Given the description of an element on the screen output the (x, y) to click on. 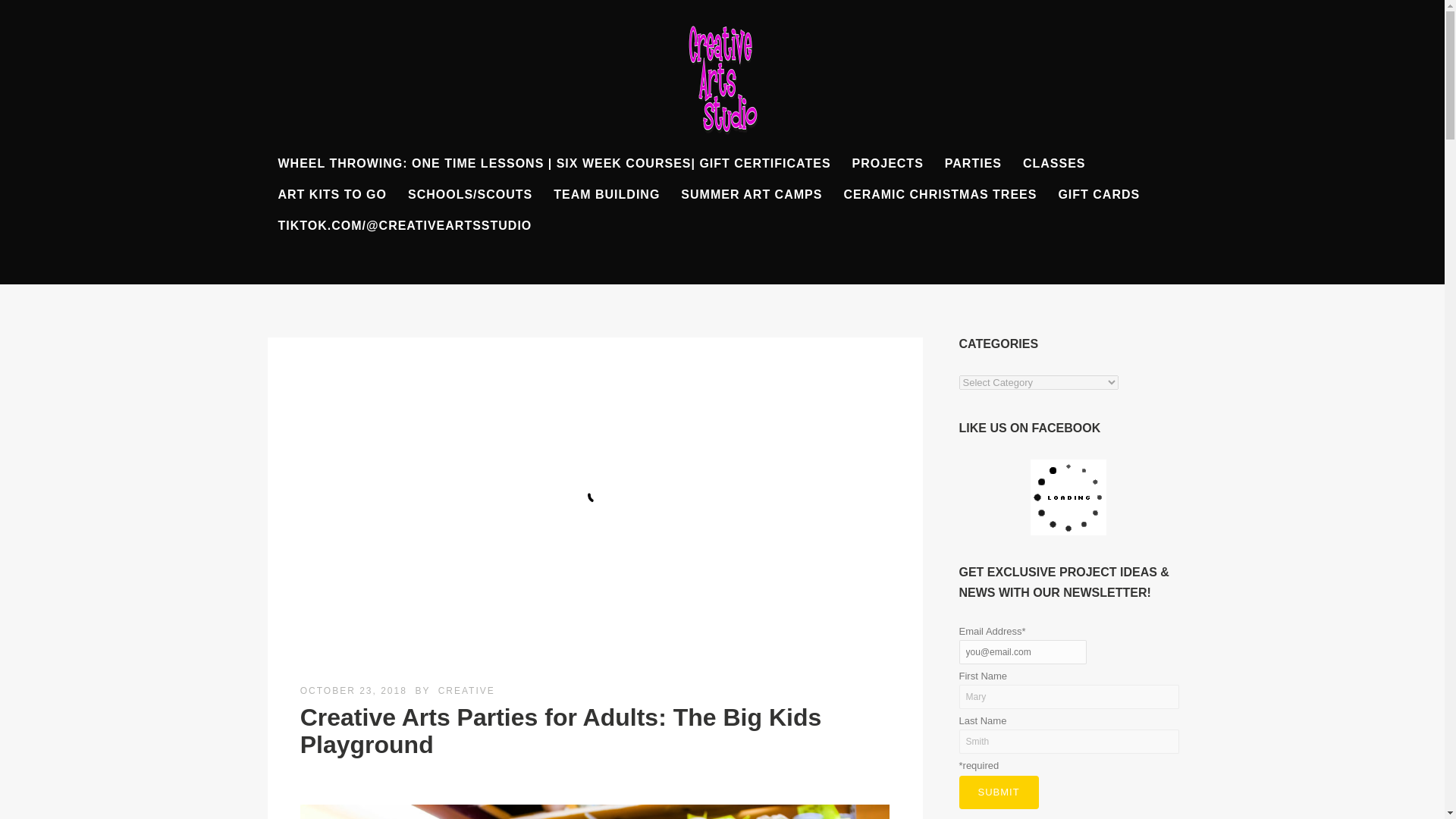
TEAM BUILDING (606, 194)
GIFT CARDS (1098, 194)
PROJECTS (887, 163)
SUMMER ART CAMPS (750, 194)
PARTIES (972, 163)
CLASSES (1053, 163)
CREATIVE (466, 690)
ART KITS TO GO (331, 194)
CERAMIC CHRISTMAS TREES (939, 194)
